Given the description of an element on the screen output the (x, y) to click on. 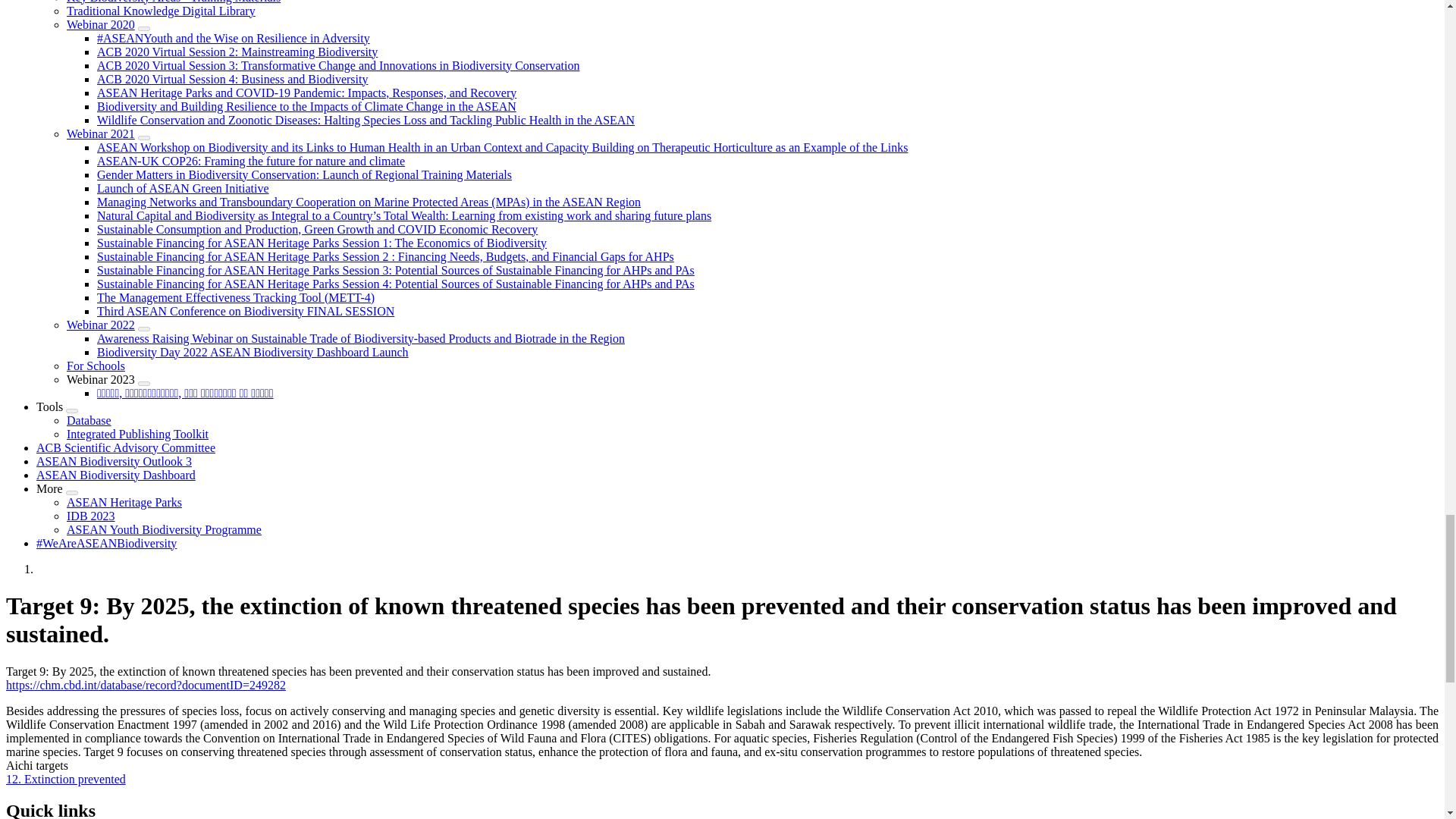
Webinar 2020 (100, 24)
Integrated Publishing Toolkit IPT (137, 433)
Biodiversity Information Management Dashboard (89, 420)
